Given the description of an element on the screen output the (x, y) to click on. 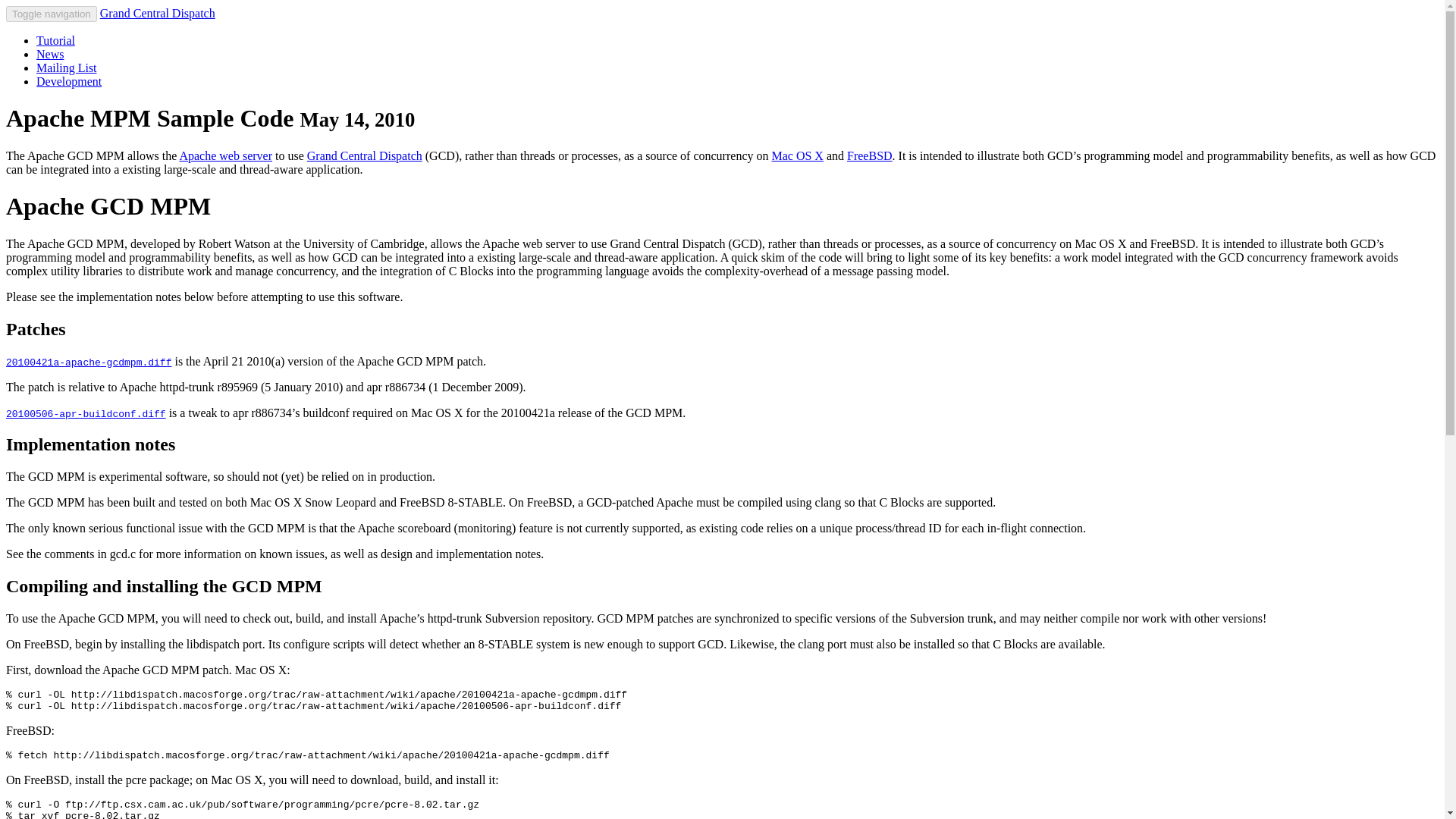
Grand Central Dispatch (364, 155)
FreeBSD (869, 155)
Toggle navigation (51, 13)
Development (68, 81)
20100506-apr-buildconf.diff (85, 412)
News (50, 53)
Tutorial (55, 40)
20100421a-apache-gcdmpm.diff (88, 360)
Mailing List (66, 67)
Grand Central Dispatch (157, 12)
Mac OS X (796, 155)
Apache web server (225, 155)
